Given the description of an element on the screen output the (x, y) to click on. 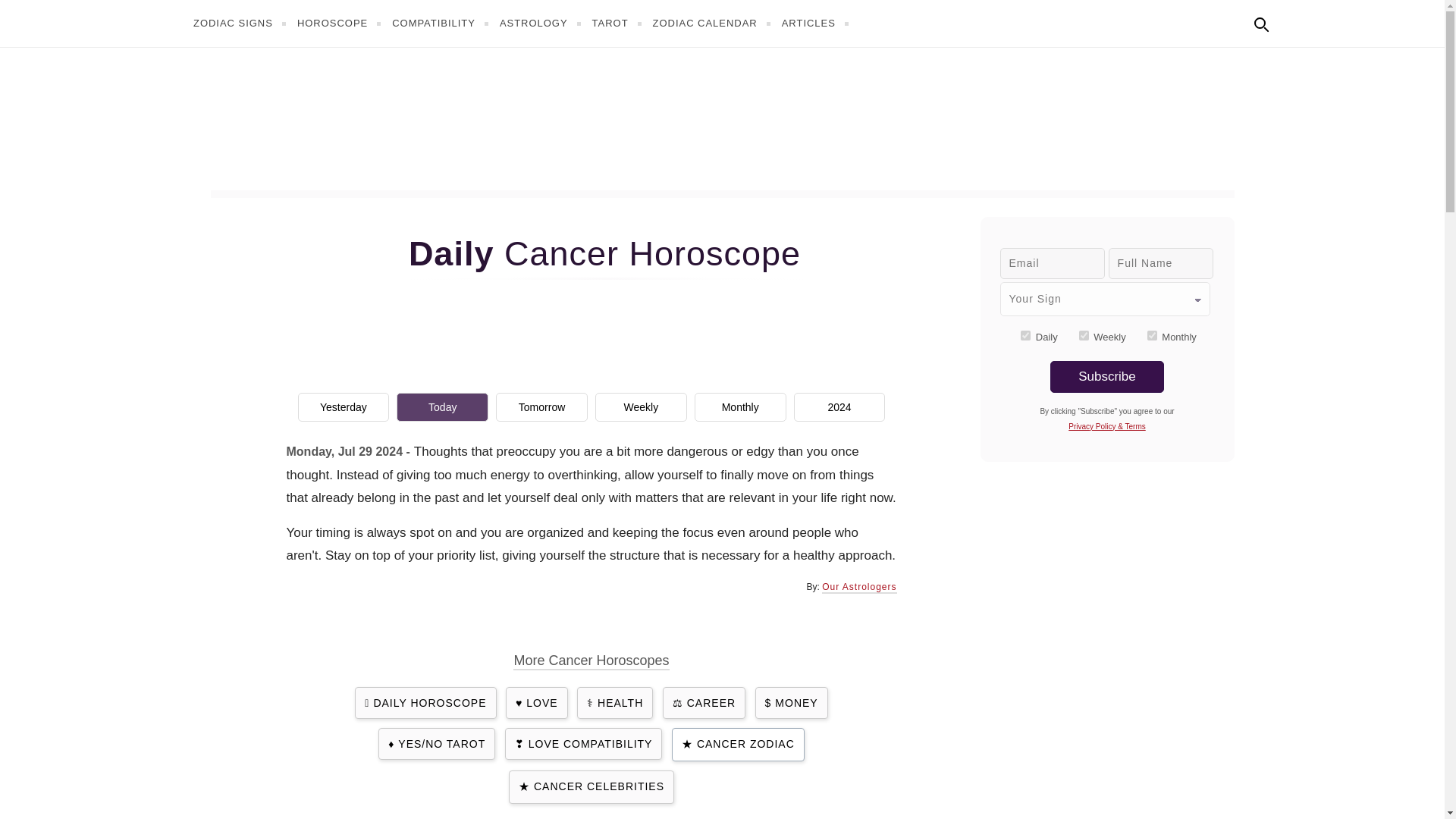
In English (1294, 21)
monthly (1152, 335)
weekly (1083, 335)
HOROSCOPE (341, 23)
daily (1025, 335)
ZODIAC SIGNS (241, 23)
